Given the description of an element on the screen output the (x, y) to click on. 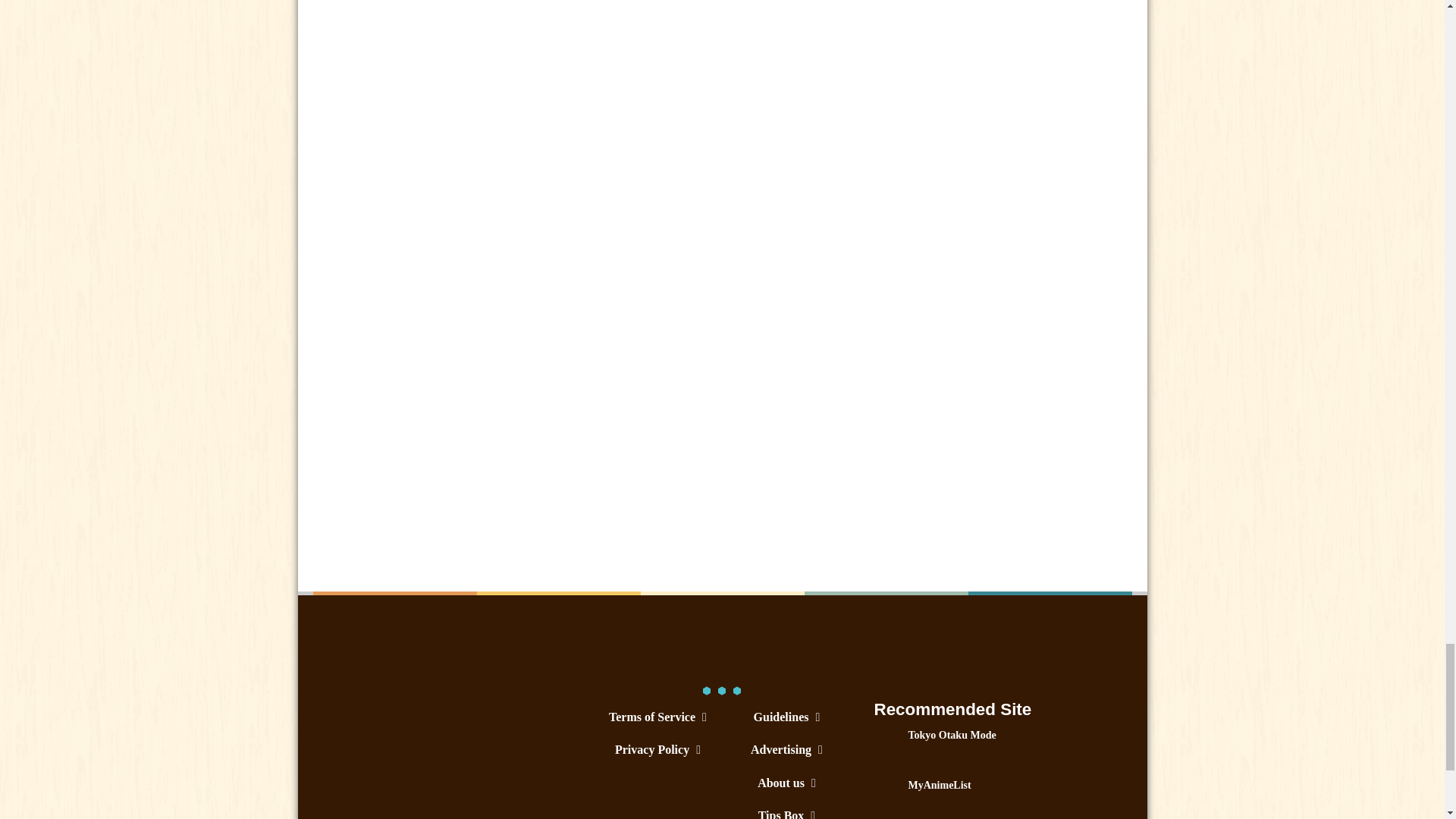
Guidelines (786, 716)
Terms of Service (657, 716)
Privacy Policy (657, 748)
Terms of Service Agreement (657, 716)
